Given the description of an element on the screen output the (x, y) to click on. 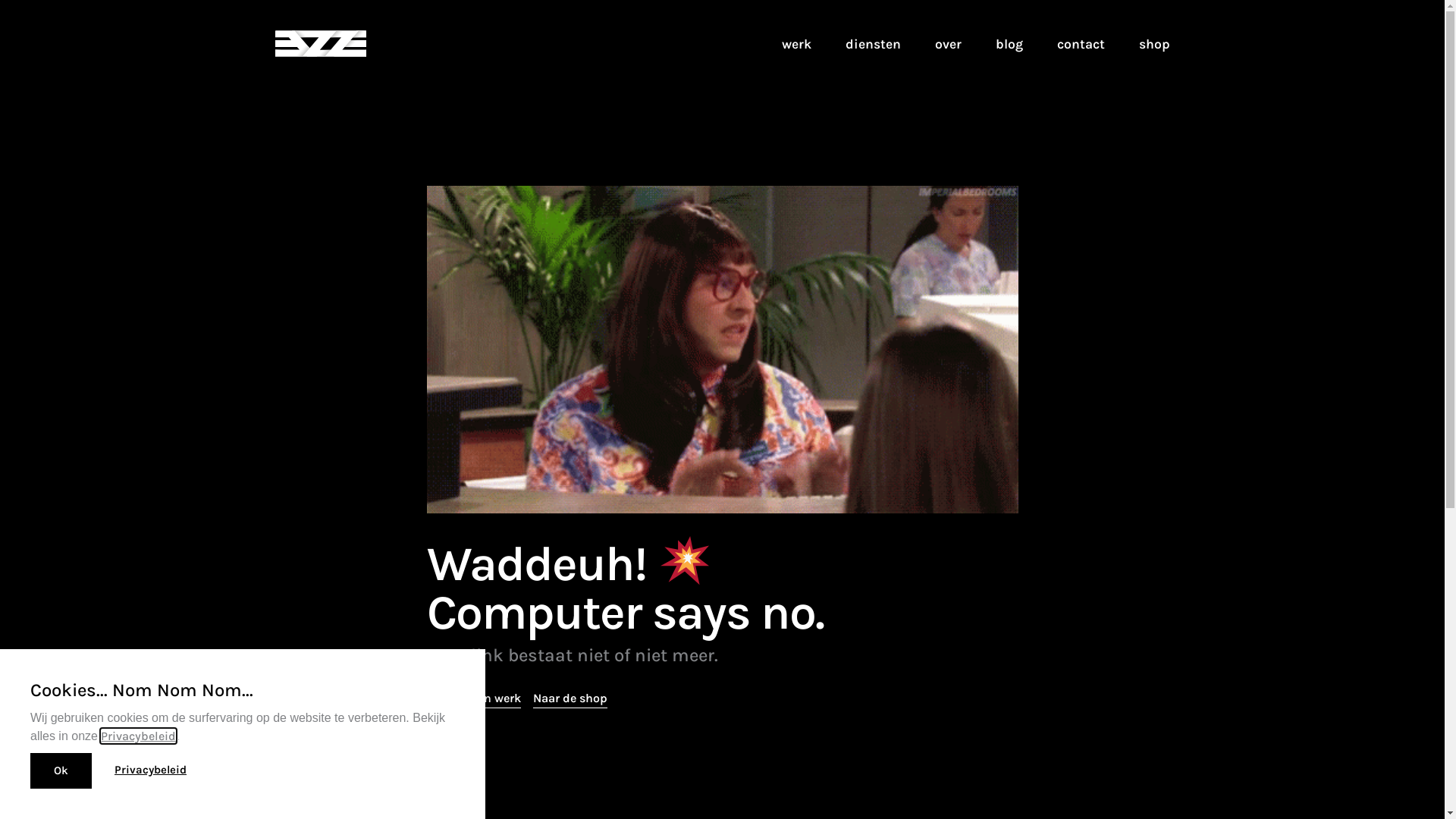
blog Element type: text (1008, 42)
Ok Element type: text (60, 770)
Privacybeleid Element type: text (150, 770)
diensten Element type: text (872, 42)
werk Element type: text (795, 42)
Privacybeleid Element type: text (137, 735)
contact Element type: text (1080, 42)
Naar de shop Element type: text (569, 698)
over Element type: text (947, 42)
shop Element type: text (1154, 42)
Bekijk mijn werk Element type: text (473, 698)
